Given the description of an element on the screen output the (x, y) to click on. 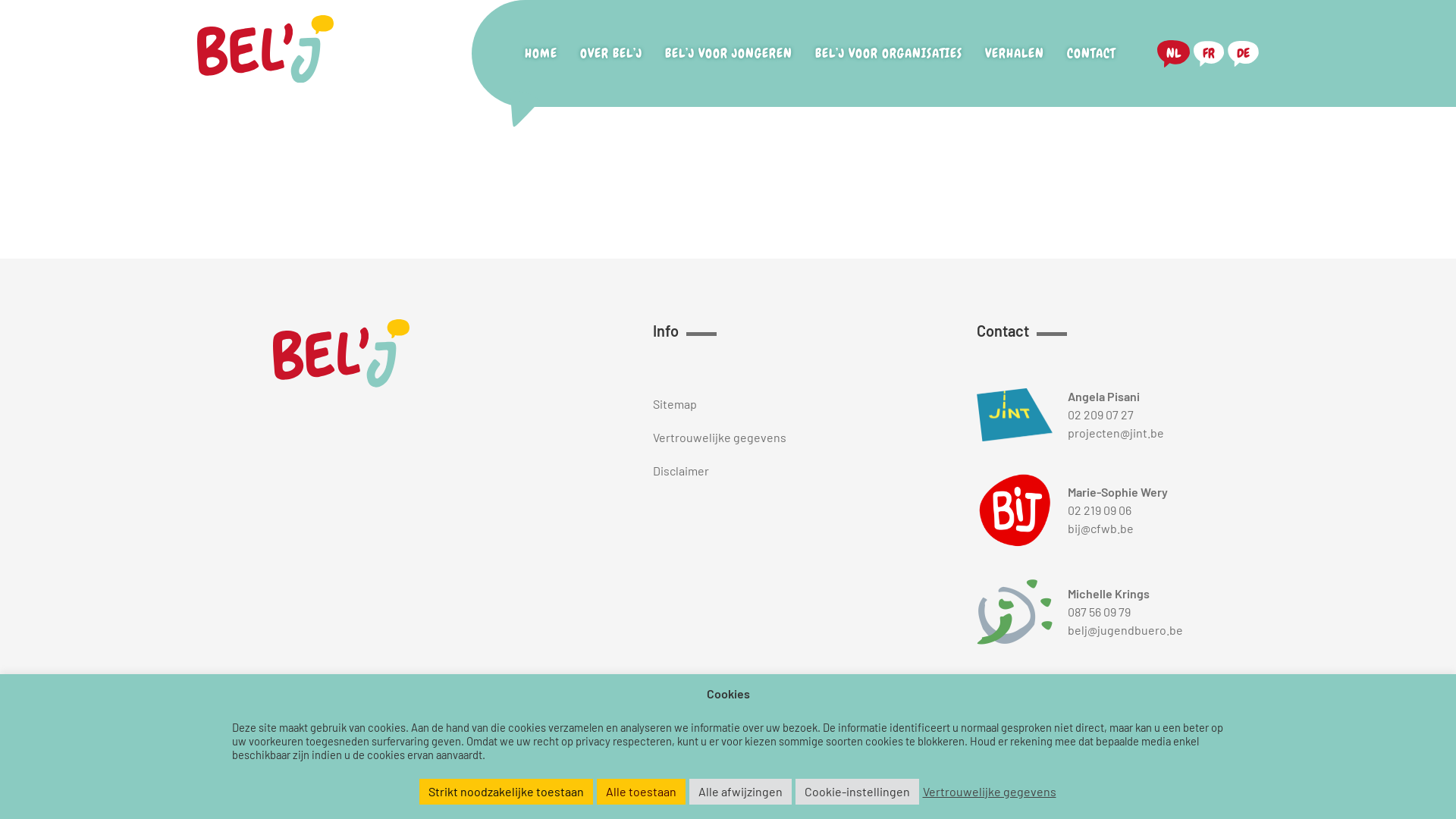
Alle afwijzingen Element type: text (739, 791)
Strikt noodzakelijke toestaan Element type: text (505, 791)
CONTACT Element type: text (1091, 53)
02 209 07 27 Element type: text (1100, 414)
Vertrouwelijke gegevens Element type: text (719, 437)
projecten@jint.be Element type: text (1115, 432)
Alle toestaan Element type: text (640, 791)
NL Element type: text (1173, 53)
Sitemap Element type: text (719, 403)
Go to Homepage Element type: hover (341, 355)
Disclaimer Element type: text (719, 470)
02 219 09 06 Element type: text (1099, 509)
Cookie-instellingen Element type: text (856, 791)
bij@cfwb.be Element type: text (1100, 527)
Vertrouwelijke gegevens Element type: text (988, 791)
HOME Element type: text (540, 53)
belj@jugendbuero.be Element type: text (1125, 629)
Bel'J - Entdecke die anderen Gemeinschaften Belgiens Element type: text (265, 53)
DE Element type: text (1242, 53)
087 56 09 79 Element type: text (1098, 611)
FR Element type: text (1208, 53)
VERHALEN Element type: text (1014, 53)
